Given the description of an element on the screen output the (x, y) to click on. 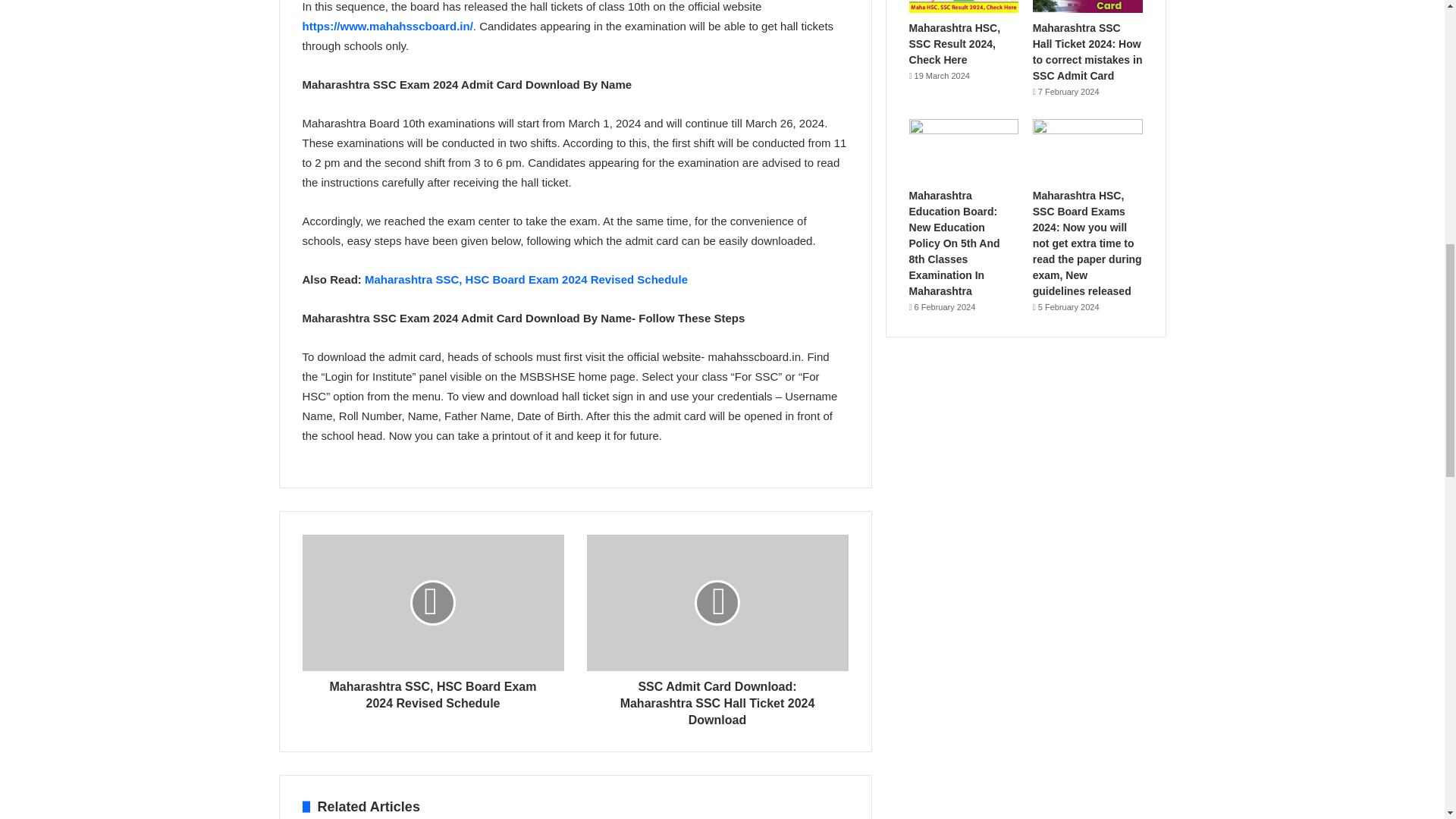
Maharashtra SSC, HSC Board Exam 2024 Revised Schedule (432, 690)
Maharashtra SSC, HSC Board Exam 2024 Revised Schedule (526, 278)
